Given the description of an element on the screen output the (x, y) to click on. 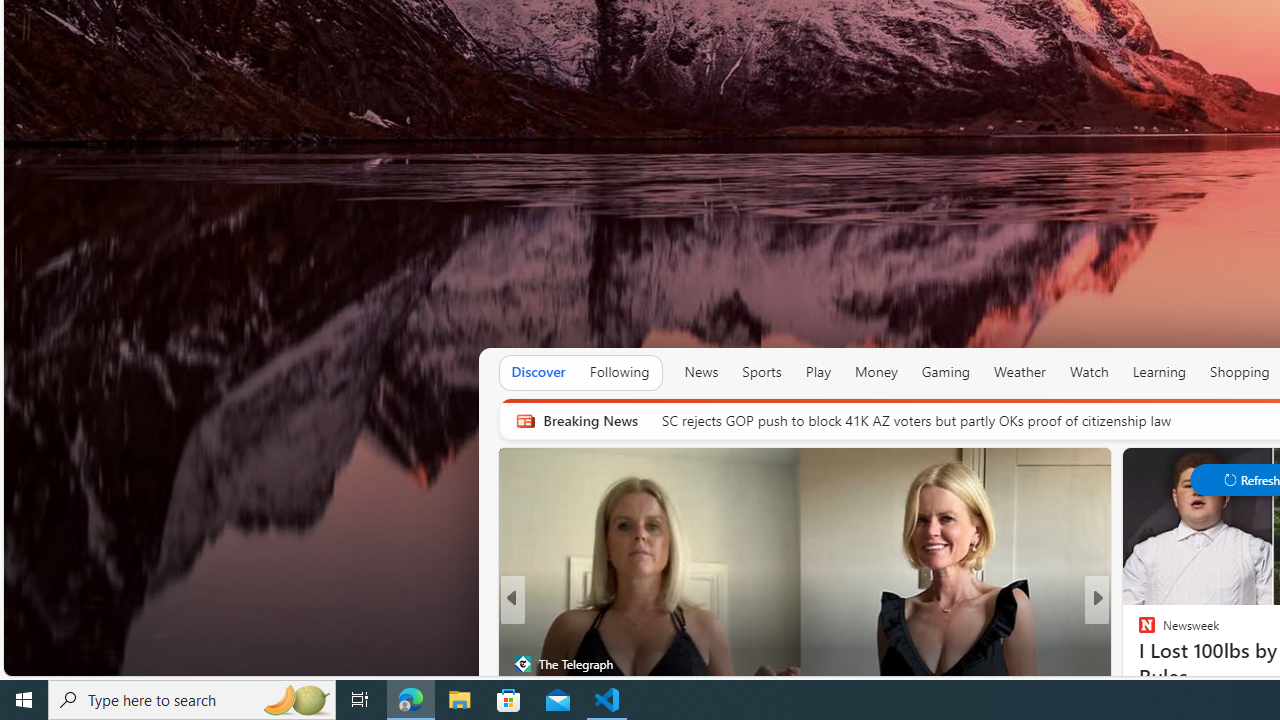
News (701, 372)
Money (876, 372)
Learning (1159, 371)
Watch (1089, 372)
Watch (1089, 371)
Learning (1159, 372)
Weather (1019, 372)
News (701, 371)
Play (818, 372)
Weather (1020, 371)
Sports (761, 372)
